Given the description of an element on the screen output the (x, y) to click on. 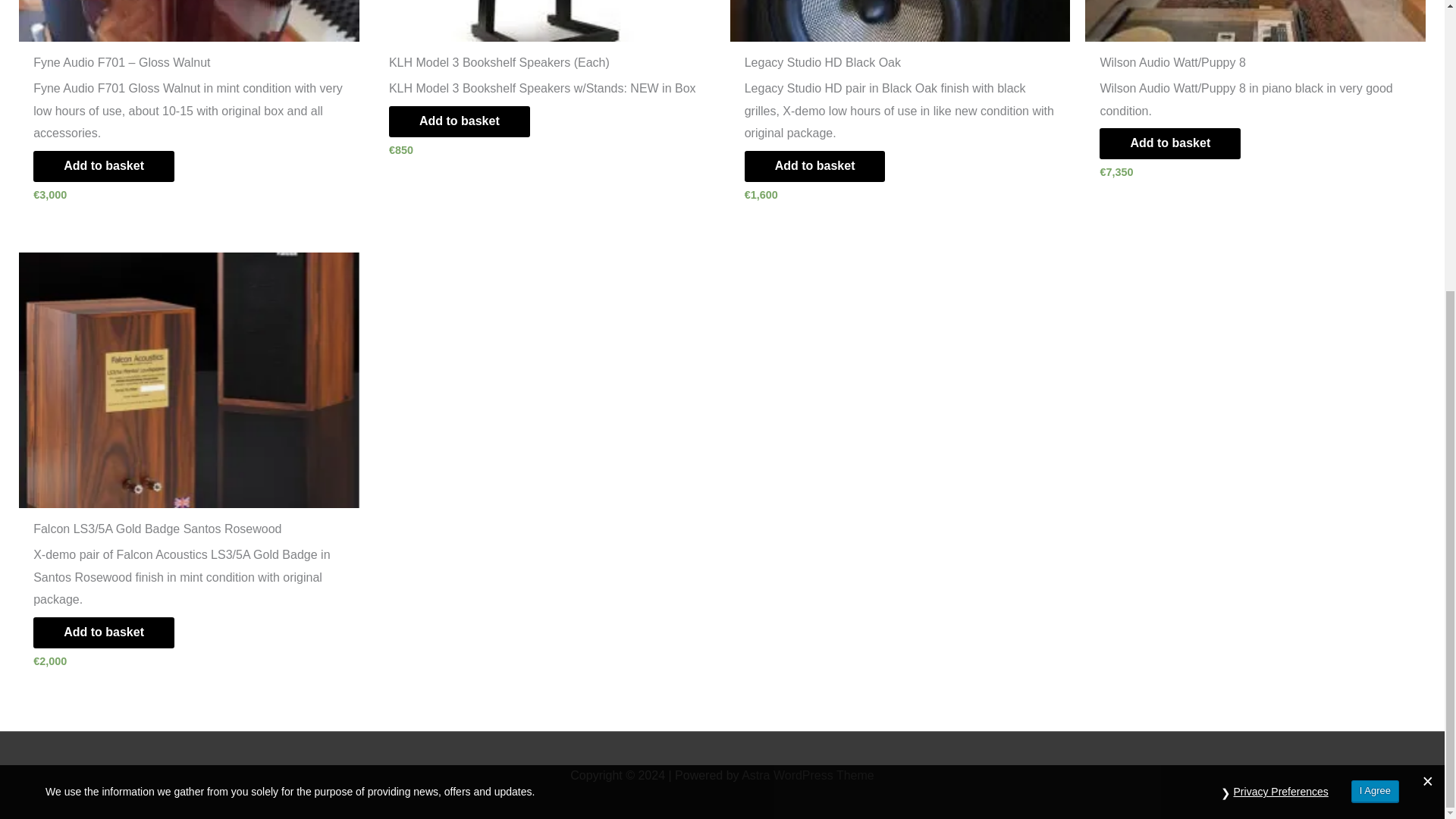
Add to basket (458, 121)
Add to basket (103, 165)
Astra WordPress Theme (808, 775)
Privacy Preferences (1280, 348)
Add to basket (814, 165)
Add to basket (1169, 142)
Legacy Studio HD Black Oak (899, 65)
Add to basket (103, 632)
